Given the description of an element on the screen output the (x, y) to click on. 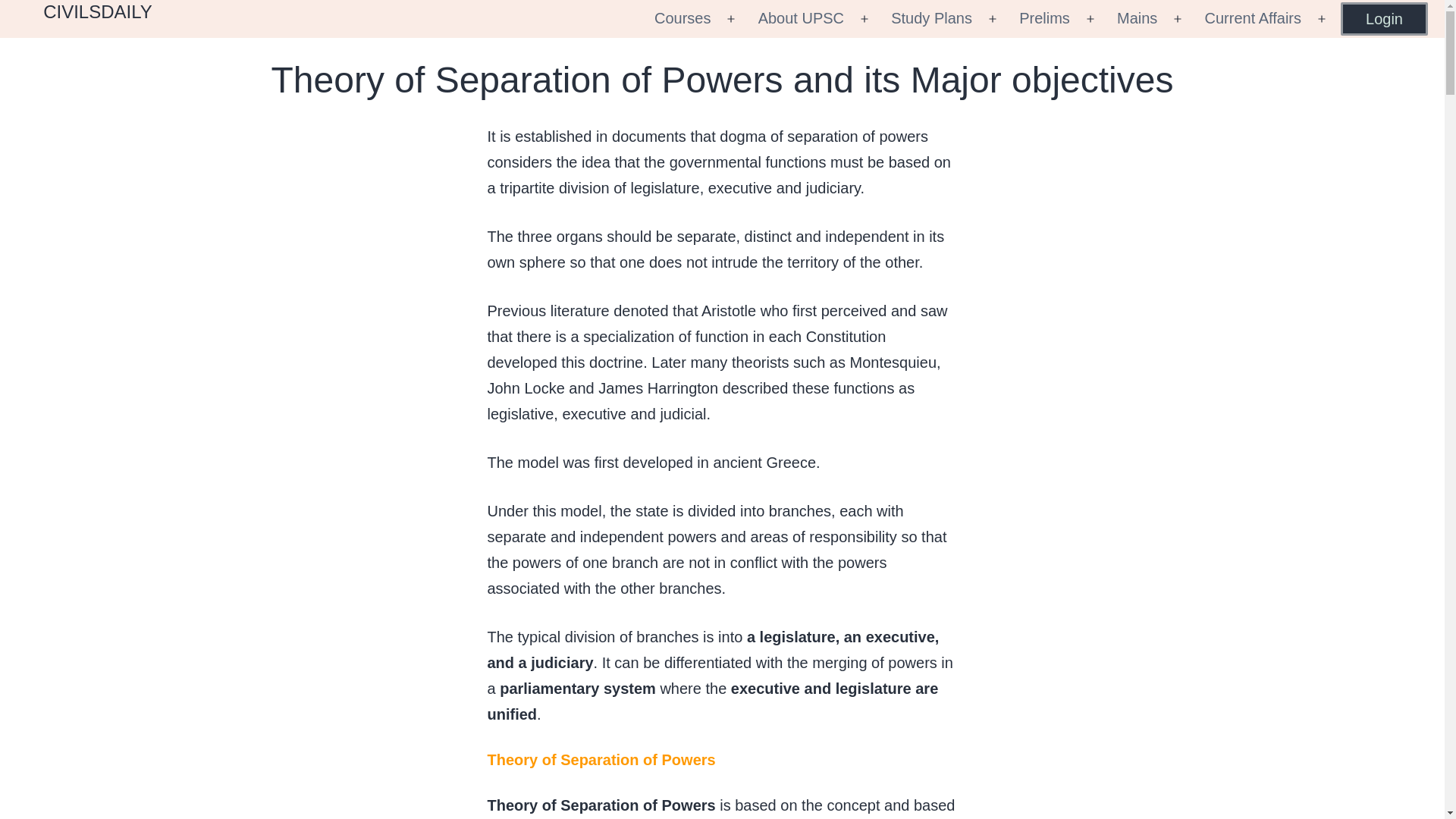
About UPSC (800, 18)
Courses (682, 18)
Study Plans (930, 18)
CIVILSDAILY (97, 11)
Current Affairs (1252, 18)
Mains (1136, 18)
Prelims (1044, 18)
